Given the description of an element on the screen output the (x, y) to click on. 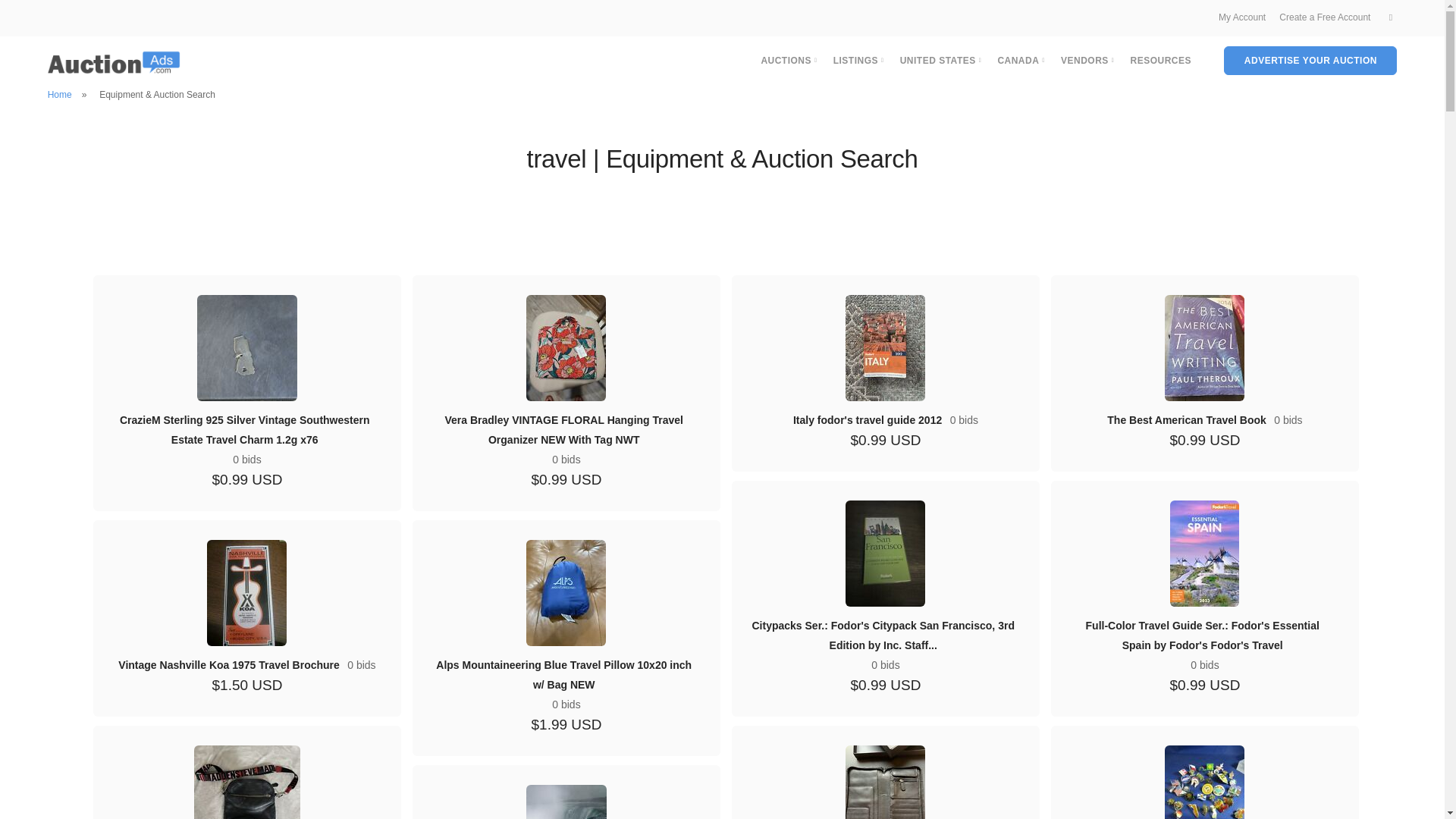
Create a Free Account (1324, 17)
My Account (1241, 17)
